Given the description of an element on the screen output the (x, y) to click on. 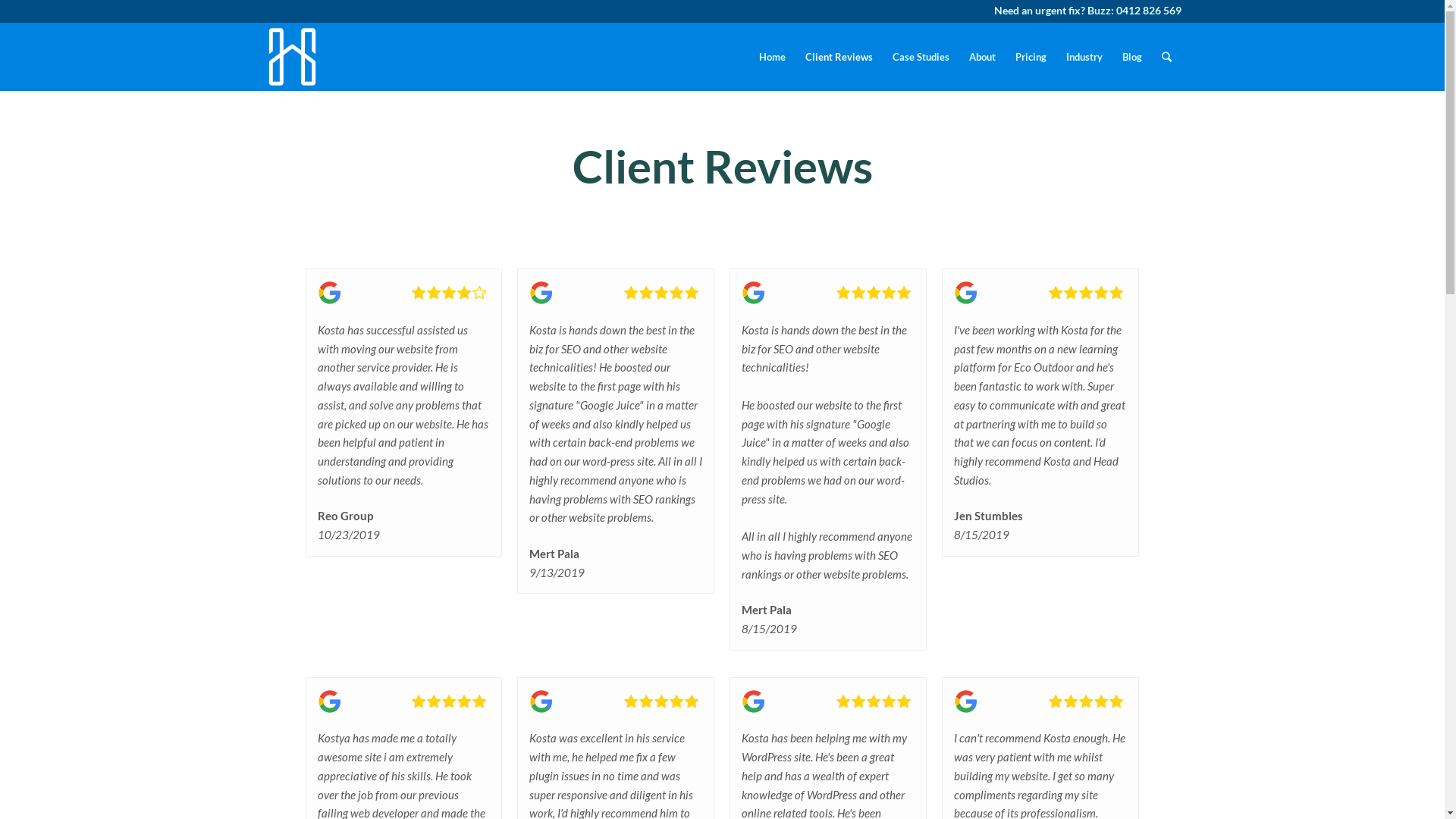
Blog Element type: text (1131, 56)
Case Studies Element type: text (920, 56)
About Element type: text (981, 56)
Pricing Element type: text (1030, 56)
Home Element type: text (772, 56)
Client Reviews Element type: text (837, 56)
Industry Element type: text (1083, 56)
